Given the description of an element on the screen output the (x, y) to click on. 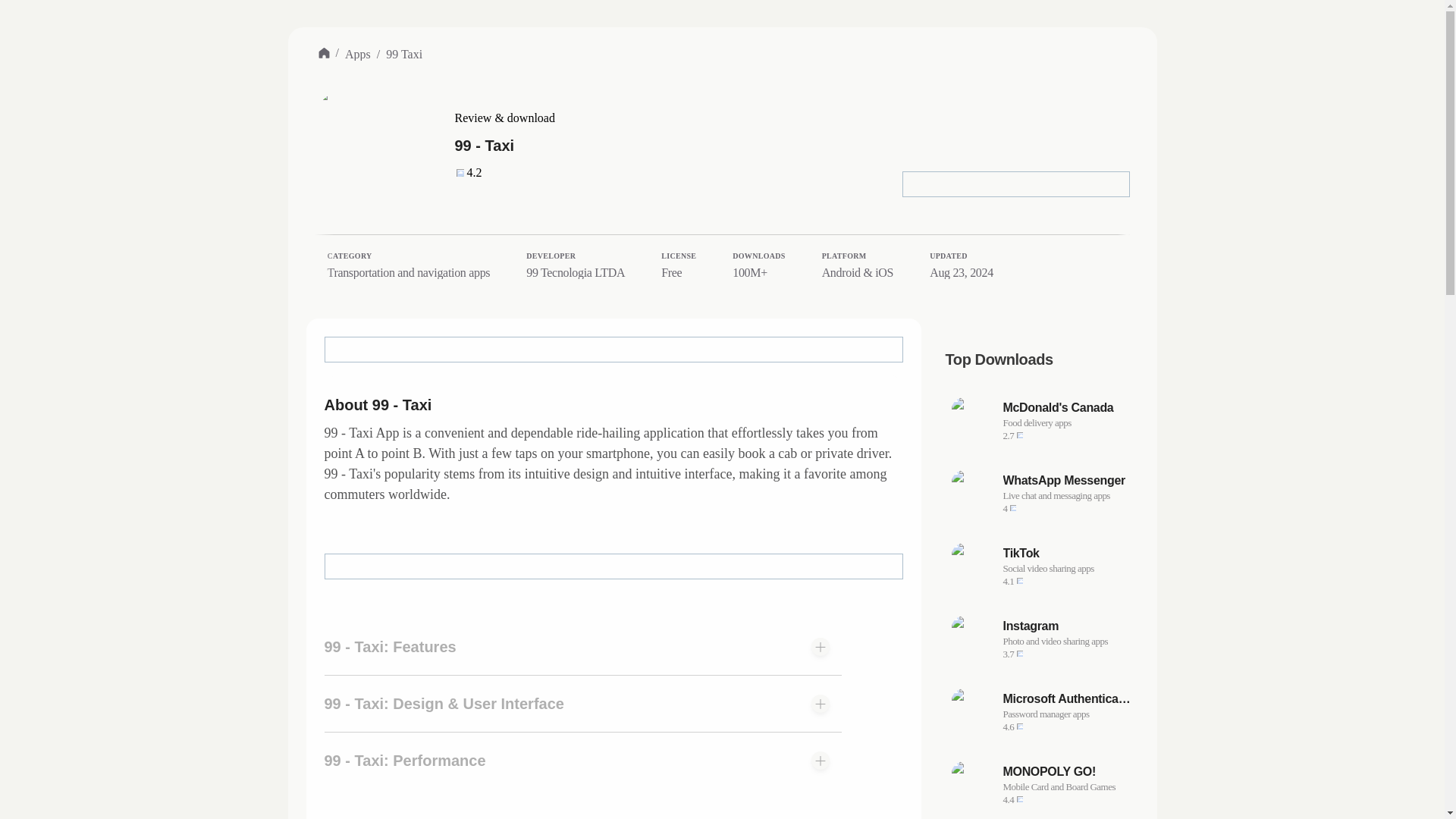
Apps (358, 54)
Instagram (1041, 492)
Microsoft Authenticator (1067, 626)
Mobile Card and Board Games (1041, 638)
TikTok (1067, 699)
MONOPOLY GO! (1067, 786)
99 - Taxi: Performance (1067, 553)
